Given the description of an element on the screen output the (x, y) to click on. 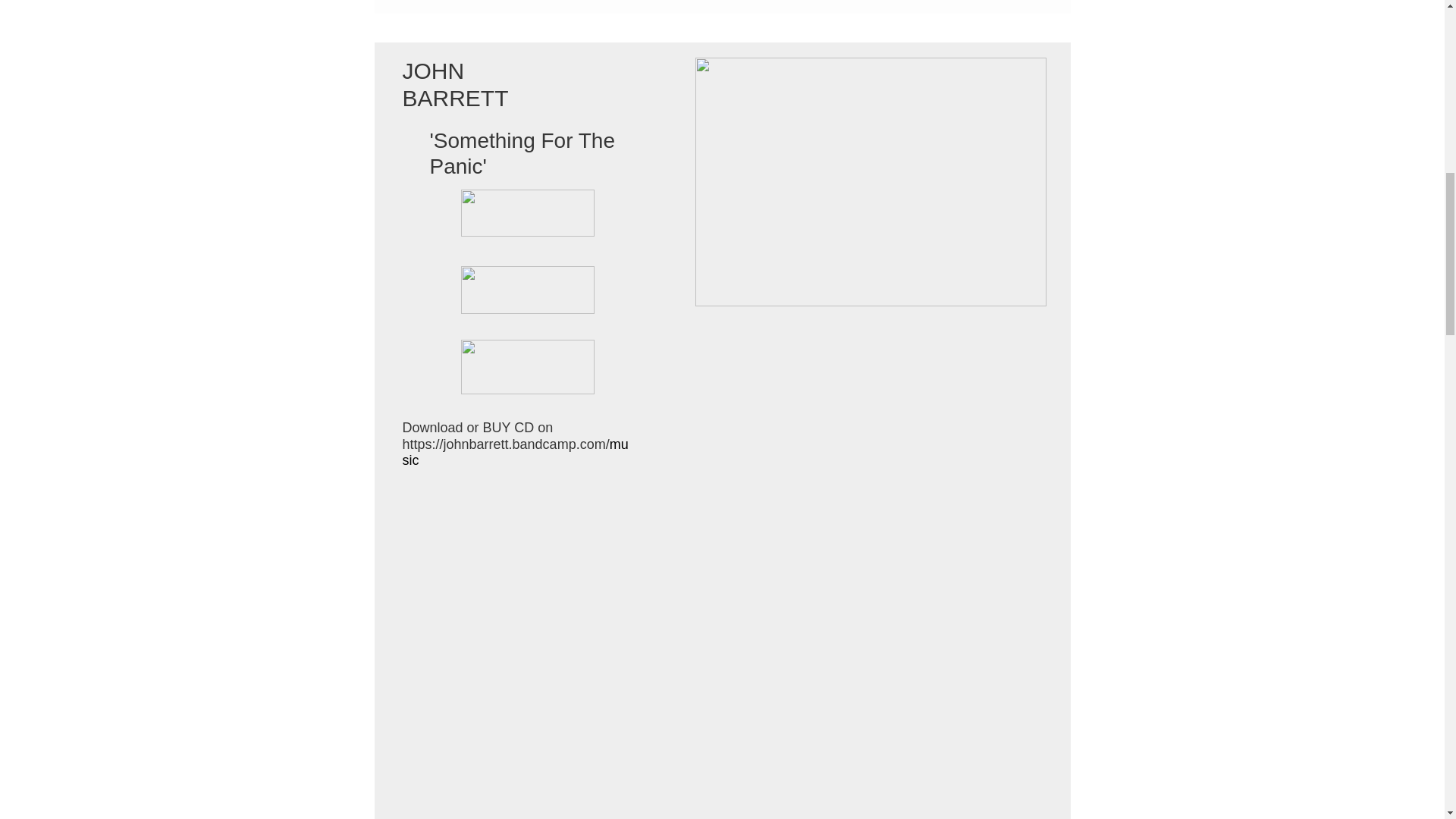
music (514, 452)
